Given the description of an element on the screen output the (x, y) to click on. 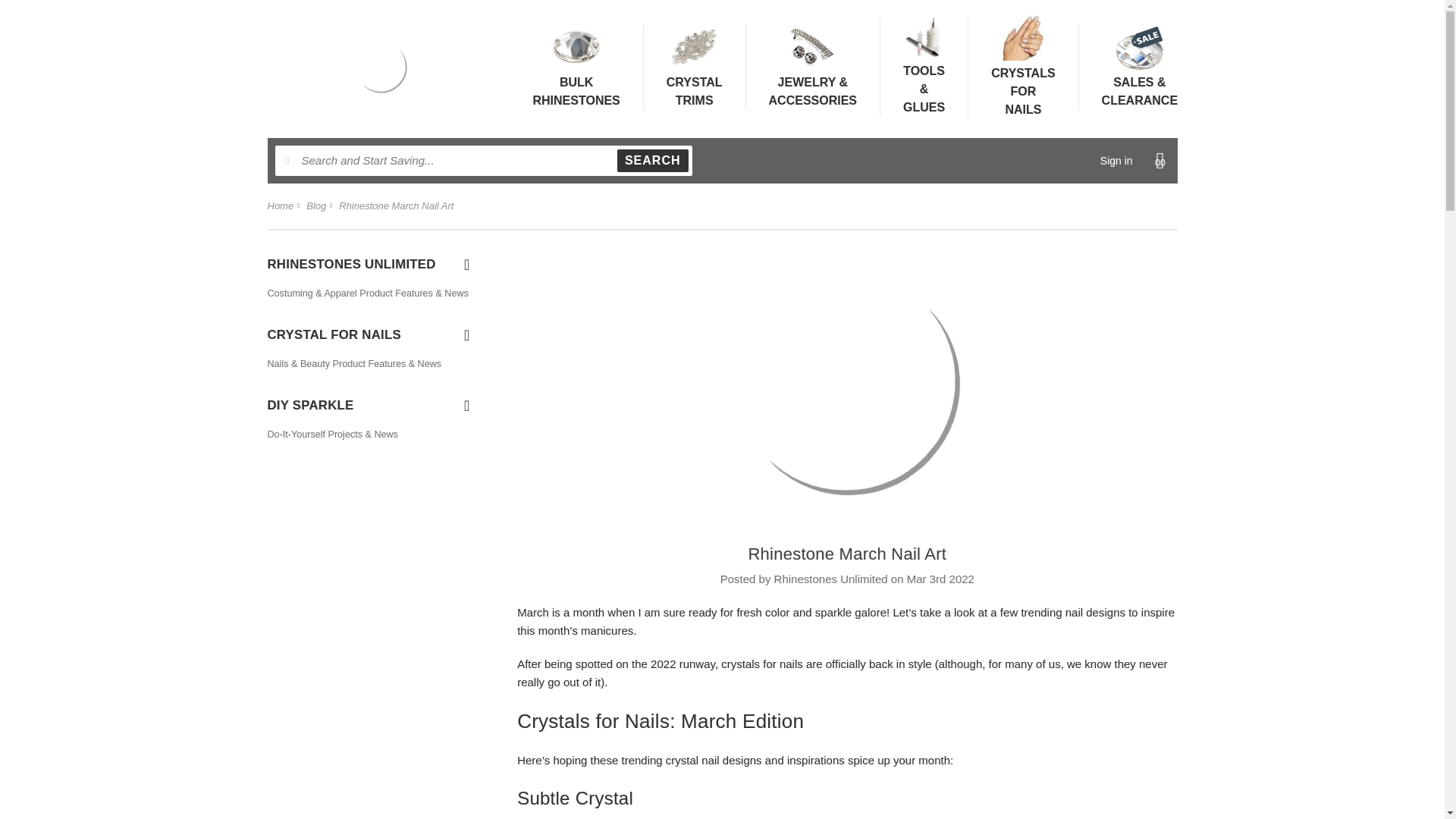
Rhinestones Unlimited  (380, 67)
Sign in (1116, 160)
Rhinestone March Nail Art (847, 553)
Rhinestone March Nail Art (395, 205)
SEARCH (652, 160)
Rhinestone March Nail Art  (847, 382)
Home (280, 205)
Blog (576, 66)
